Given the description of an element on the screen output the (x, y) to click on. 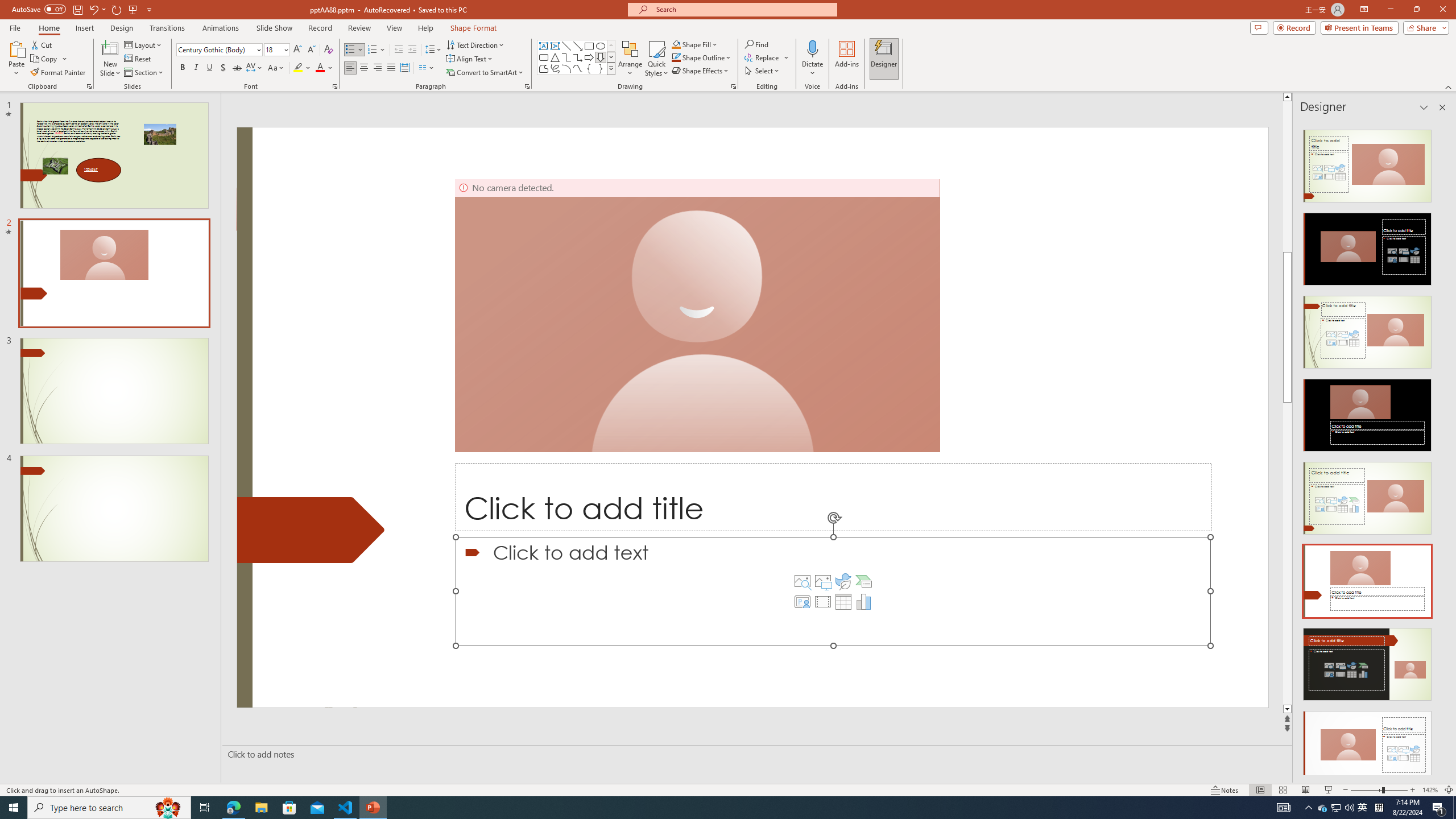
Bold (182, 67)
Font Size (276, 49)
Font Size (273, 49)
Shape Format (473, 28)
Paste (16, 58)
Character Spacing (254, 67)
Notes  (1225, 790)
Home (48, 28)
